Given the description of an element on the screen output the (x, y) to click on. 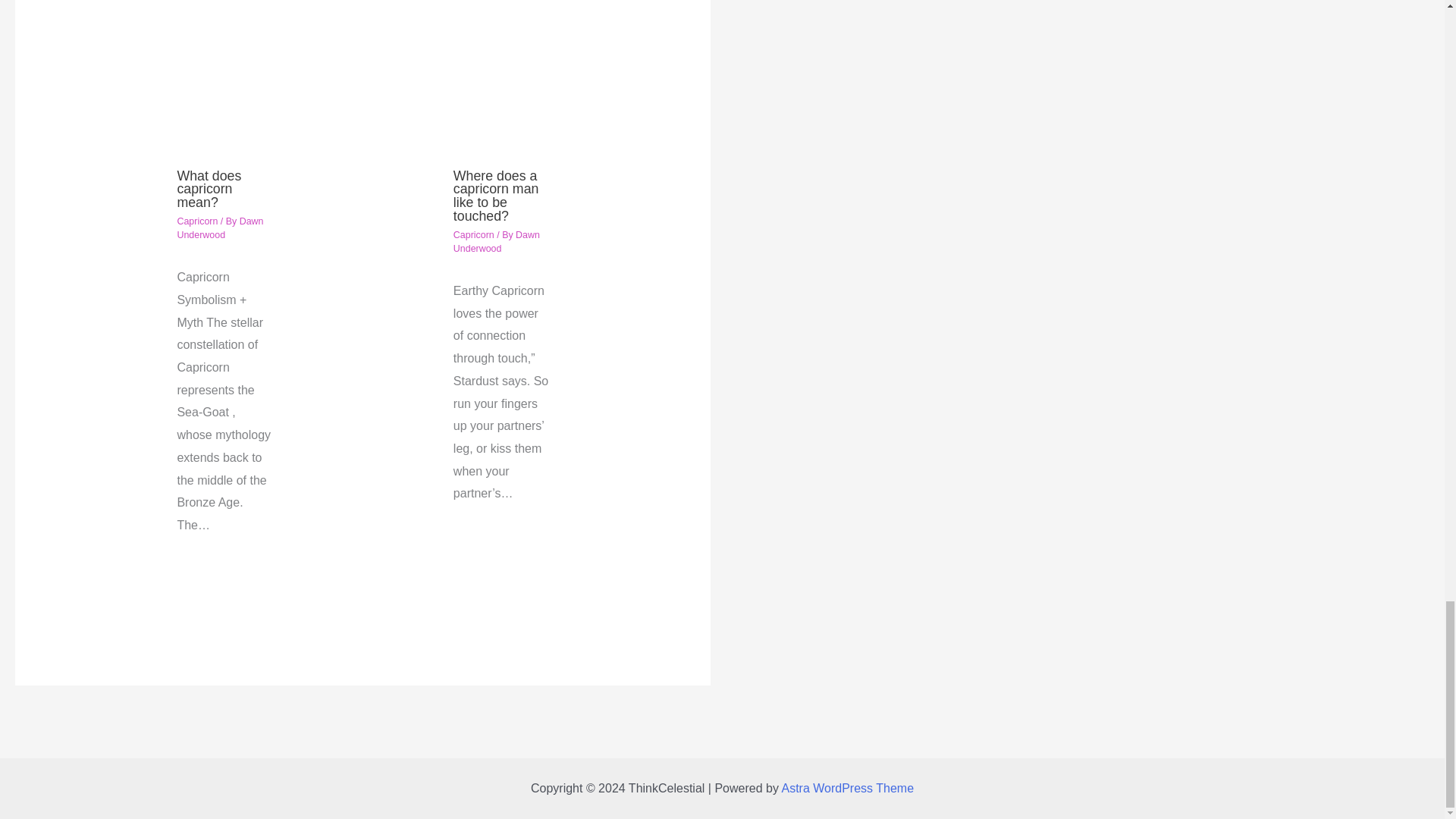
Dawn Underwood (219, 228)
Capricorn (473, 235)
Where does a capricorn man like to be touched? (495, 195)
What does capricorn mean? (208, 189)
Dawn Underwood (496, 241)
View all posts by Dawn Underwood (219, 228)
Capricorn (196, 221)
View all posts by Dawn Underwood (496, 241)
